Given the description of an element on the screen output the (x, y) to click on. 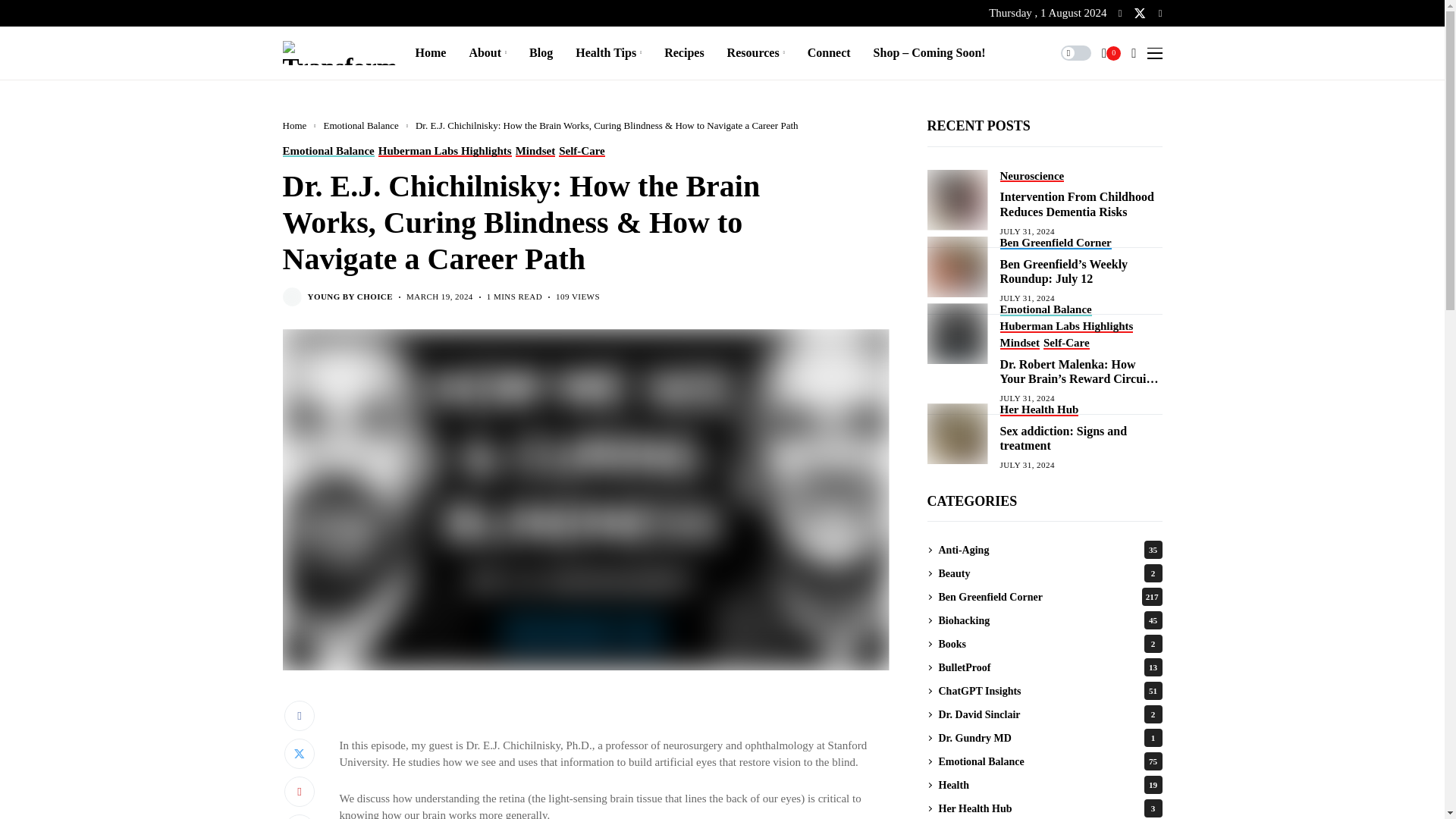
Intervention From Childhood Reduces Dementia Risks (956, 199)
Posts by Young By Choice (350, 296)
Sex addiction: Signs and treatment (956, 433)
Resources (755, 52)
Health Tips (608, 52)
